Given the description of an element on the screen output the (x, y) to click on. 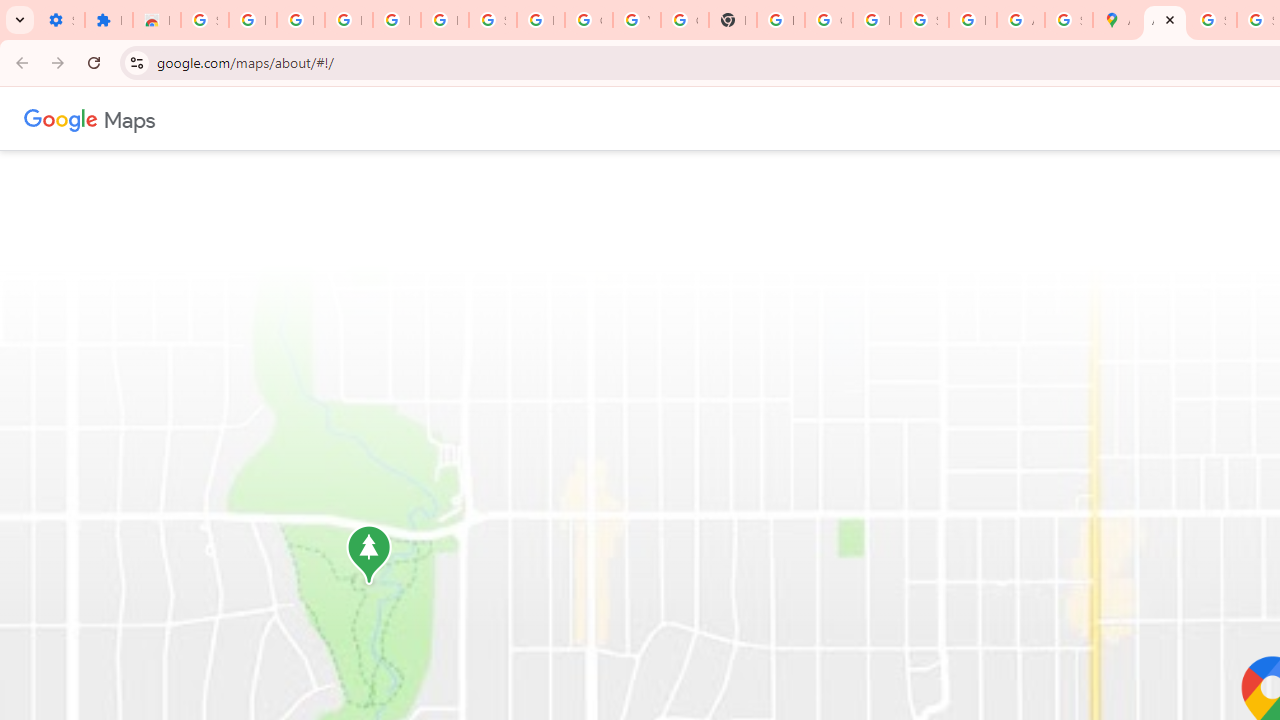
Safety in Our Products - Google Safety Center (1068, 20)
Skip to Content (264, 115)
